Given the description of an element on the screen output the (x, y) to click on. 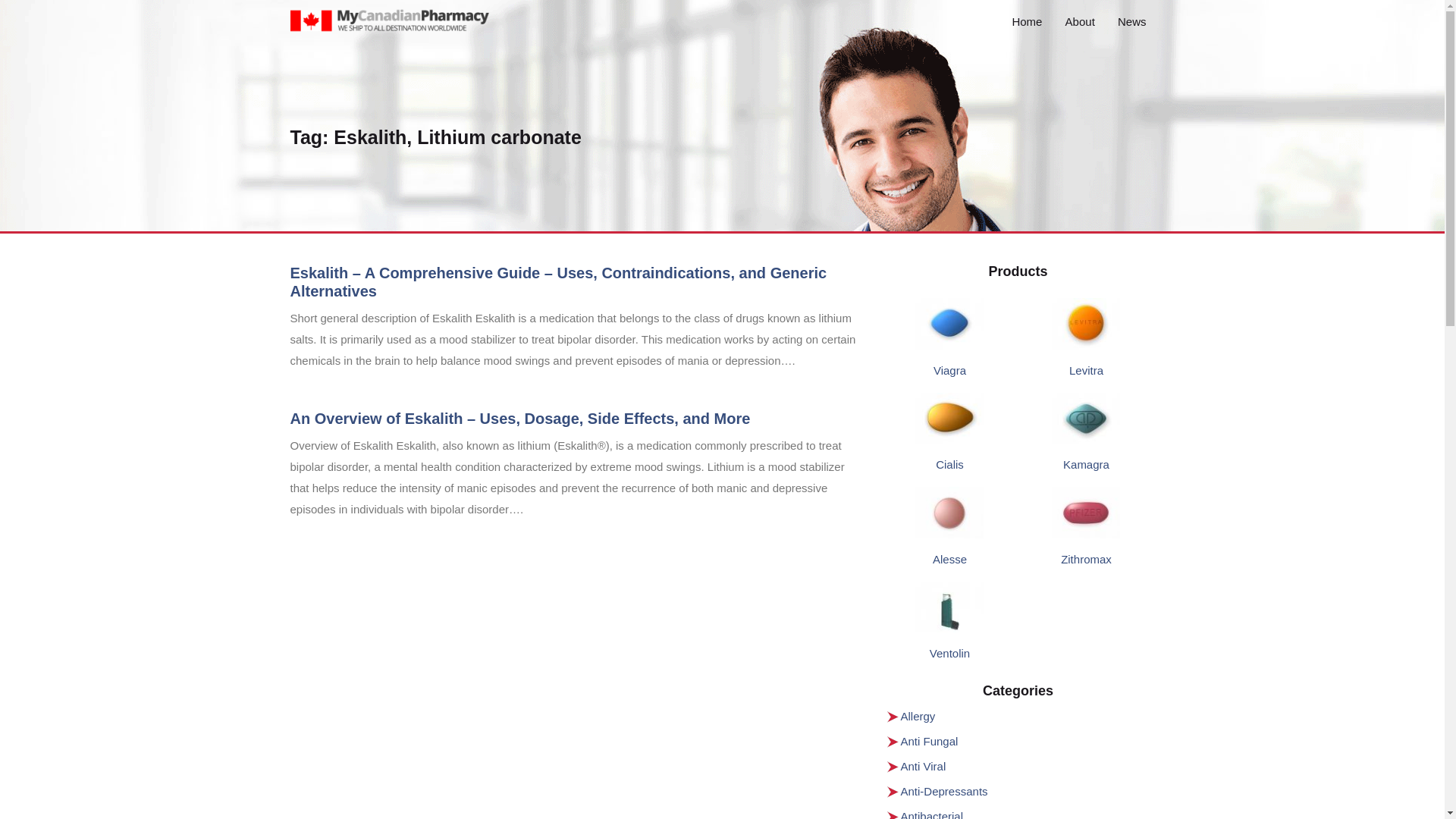
Home (1026, 21)
Cialis (949, 463)
Allergy (918, 716)
Zithromax (1086, 558)
Anti-Depressants (944, 790)
Cialis (949, 463)
My Canadian Pharmacy: Buy Generic Drugs Online (389, 29)
Ventolin (949, 653)
Levitra (1085, 369)
Levitra (1085, 369)
Viagra (949, 369)
Anti Viral (923, 766)
Ventolin (949, 653)
Kamag (1085, 463)
Alesse (949, 558)
